Given the description of an element on the screen output the (x, y) to click on. 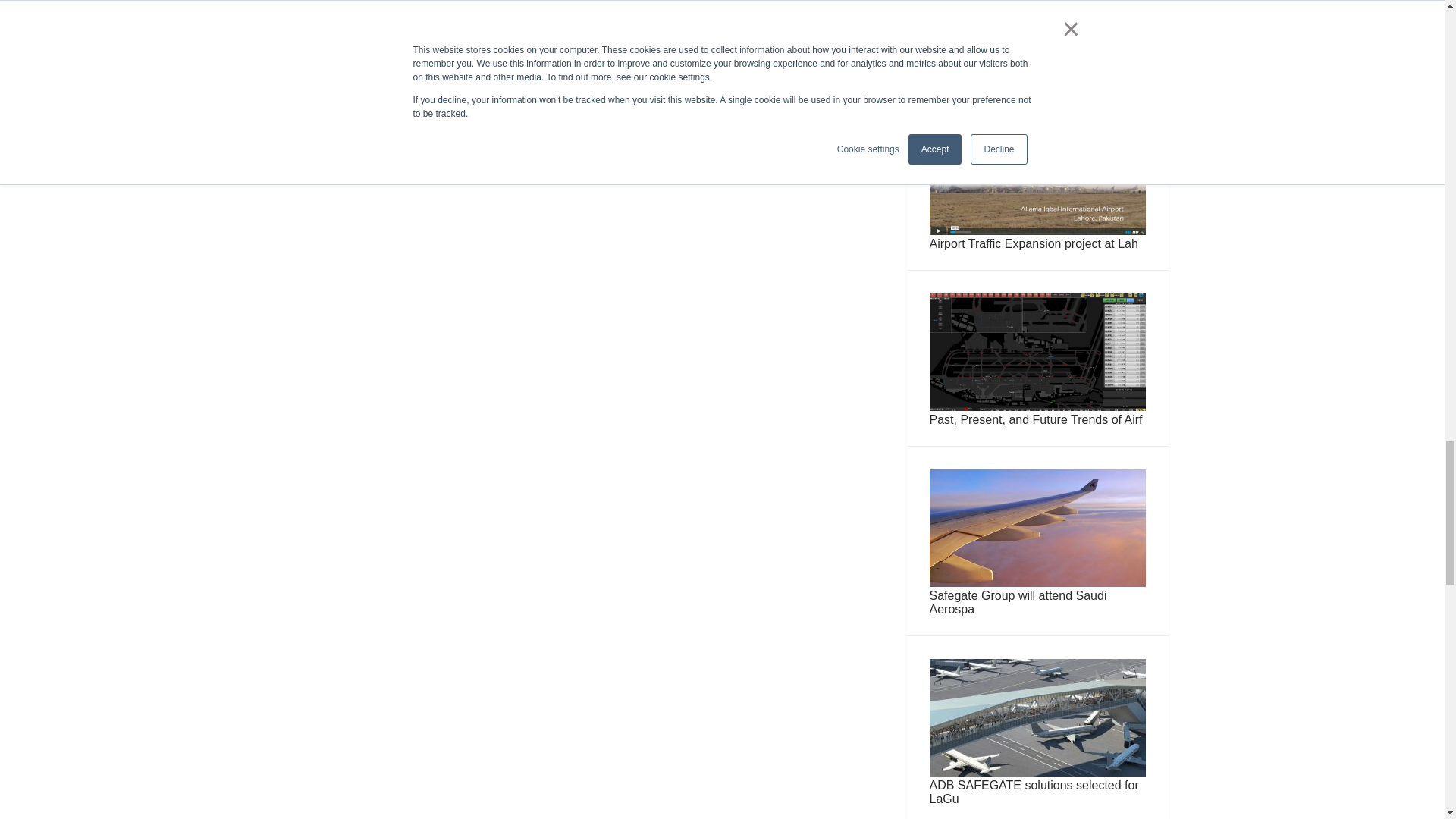
   Vote    (1037, 41)
